Given the description of an element on the screen output the (x, y) to click on. 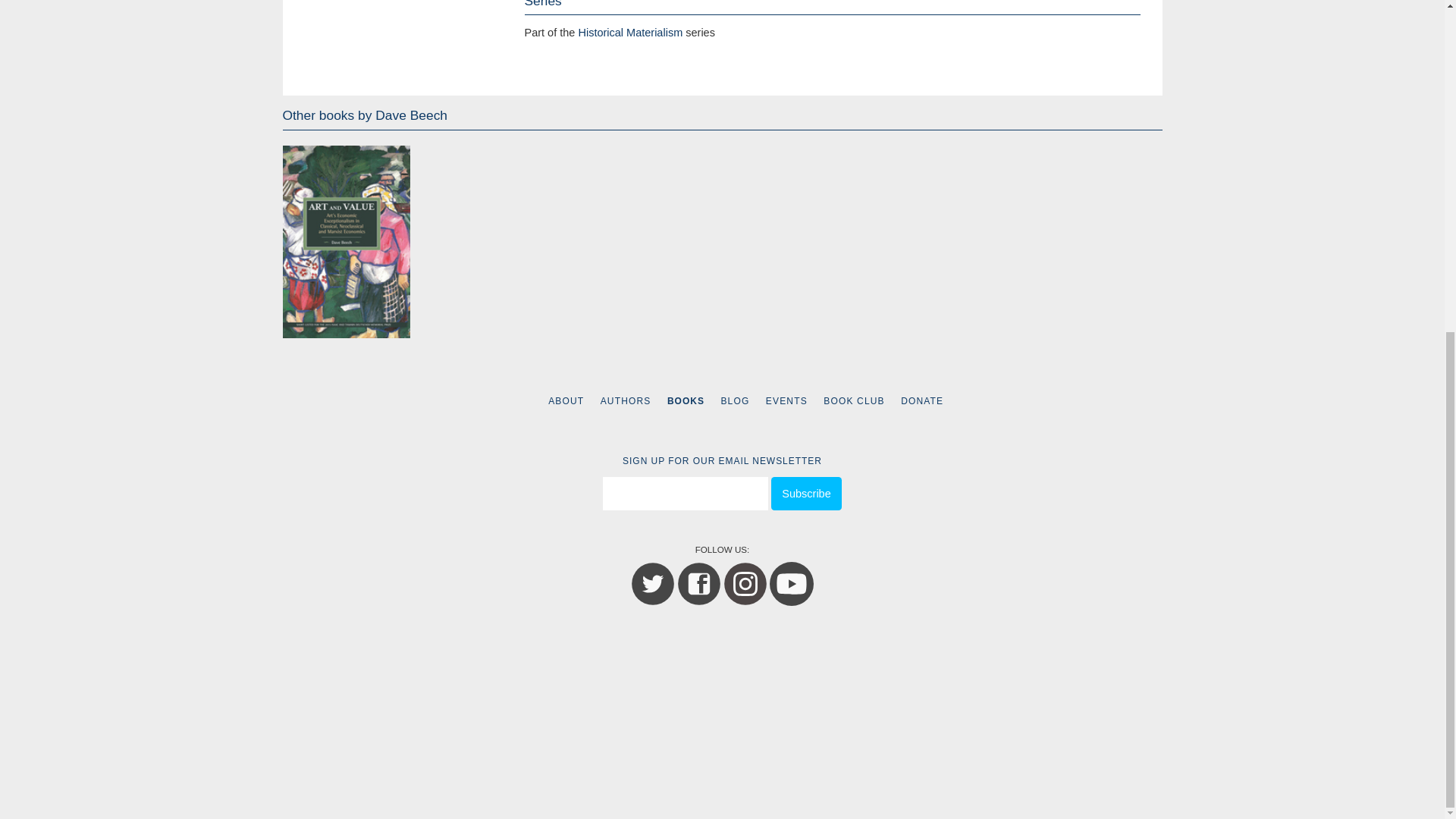
EVENTS (786, 400)
AUTHORS (624, 400)
DONATE (922, 400)
BOOK CLUB (853, 400)
Historical Materialism (630, 32)
BOOKS (685, 400)
BLOG (734, 400)
Subscribe (806, 493)
Subscribe (806, 493)
ABOUT (565, 400)
